Given the description of an element on the screen output the (x, y) to click on. 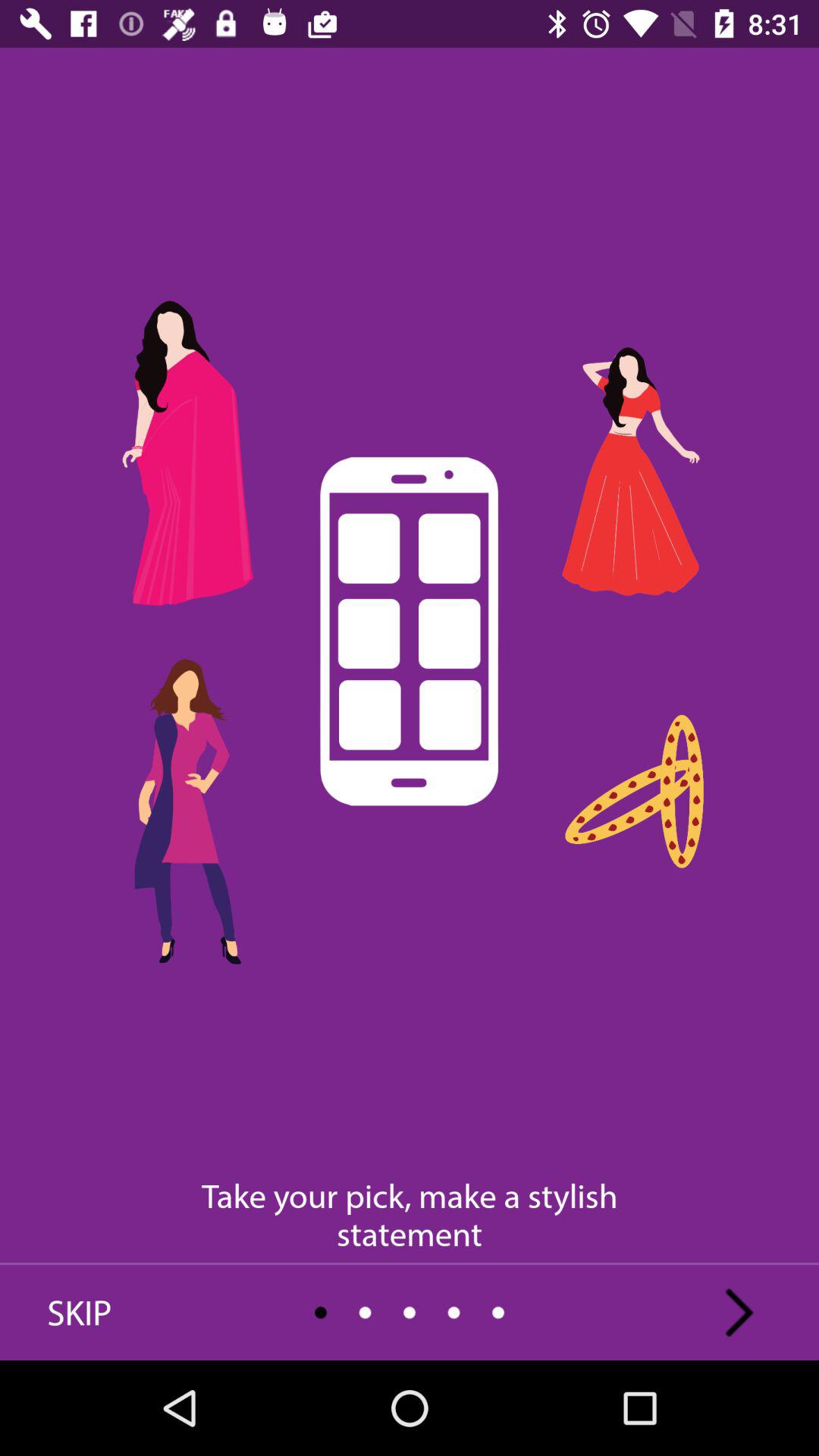
jump until the skip icon (79, 1312)
